Given the description of an element on the screen output the (x, y) to click on. 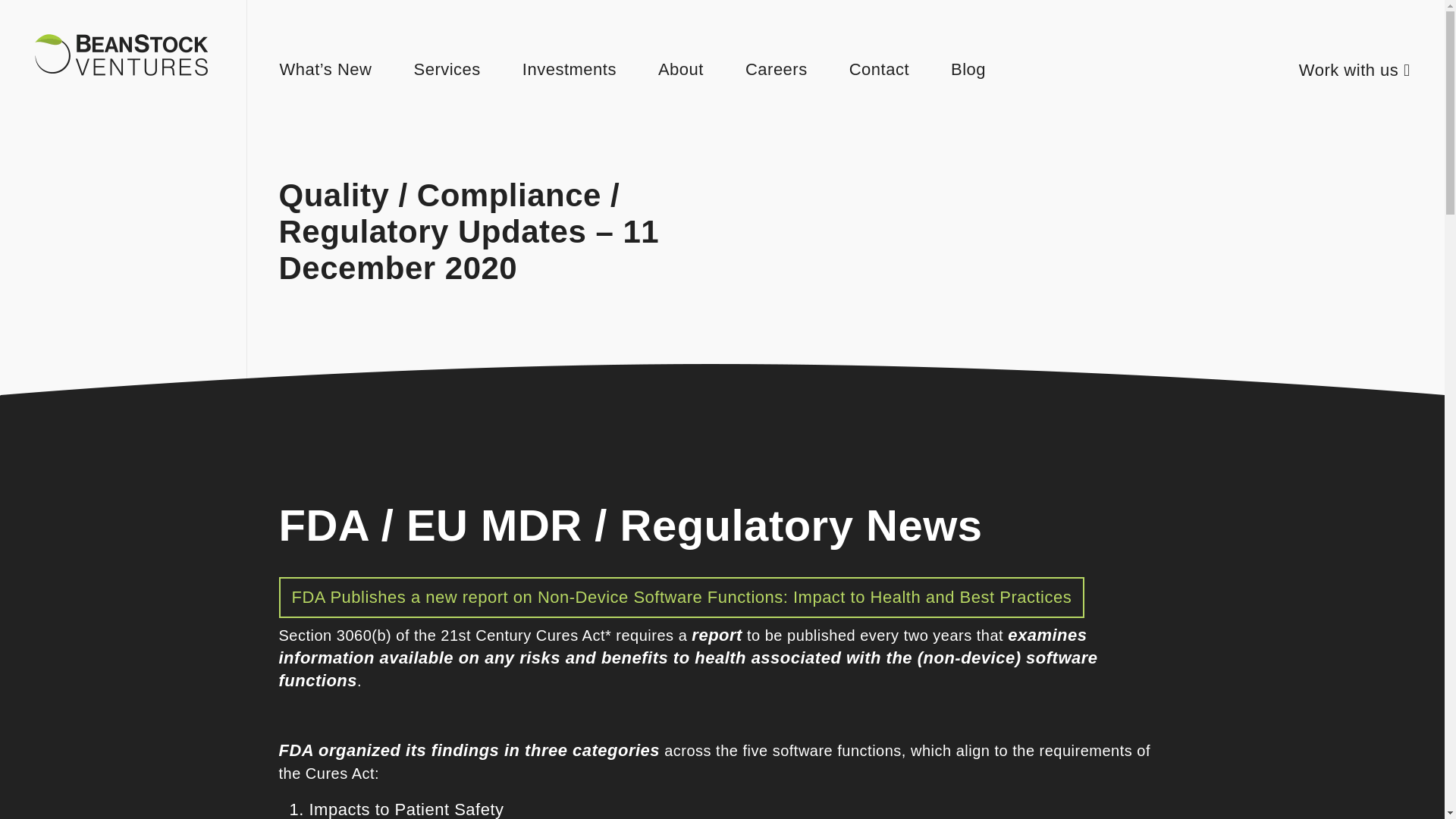
Careers (776, 68)
Work with us (1354, 69)
Blog (967, 68)
Services (446, 68)
About (680, 68)
Contact (878, 68)
Investments (568, 68)
